Given the description of an element on the screen output the (x, y) to click on. 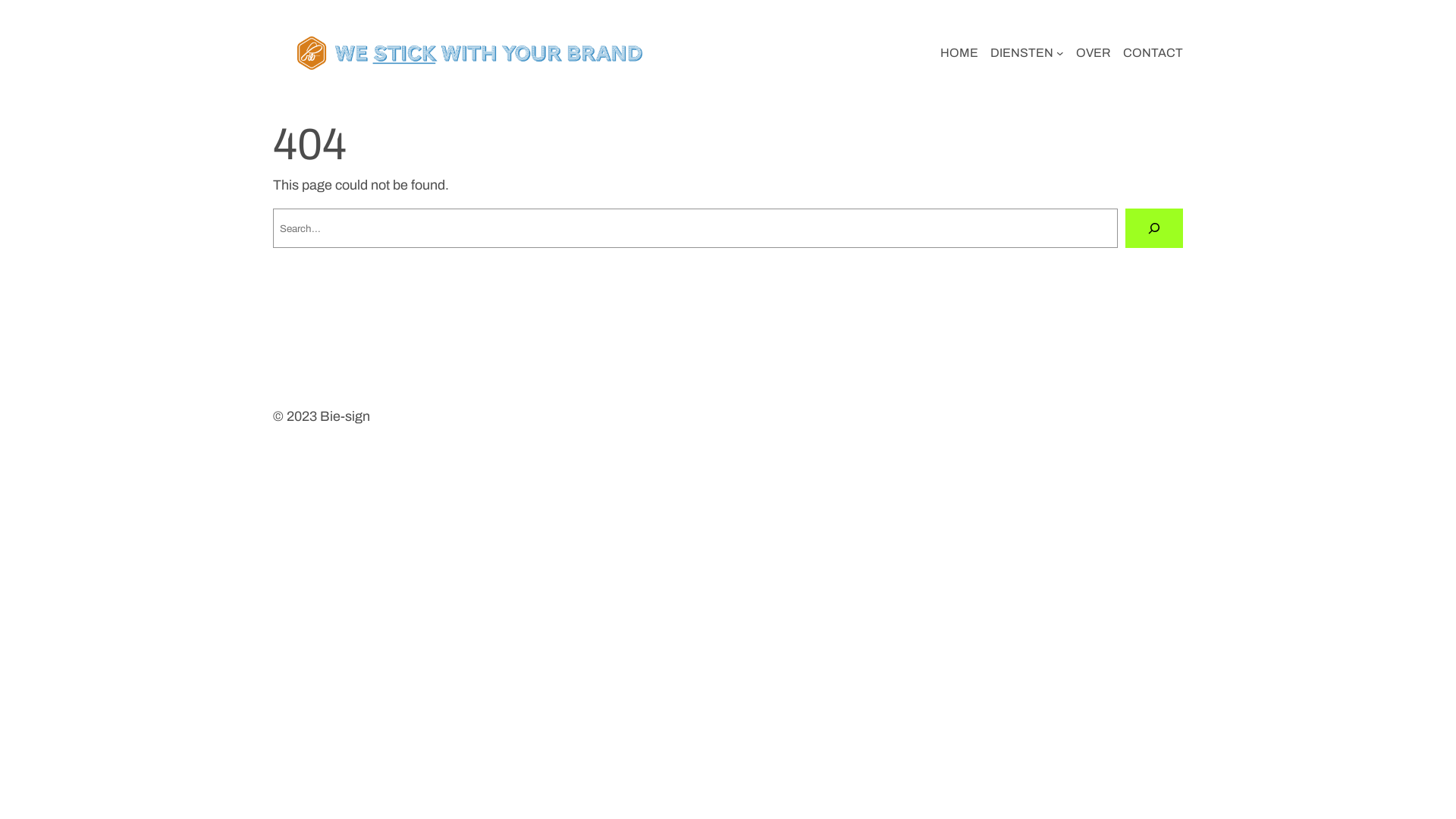
OVER Element type: text (1093, 52)
DIENSTEN Element type: text (1021, 52)
CONTACT Element type: text (1153, 52)
HOME Element type: text (959, 52)
